Given the description of an element on the screen output the (x, y) to click on. 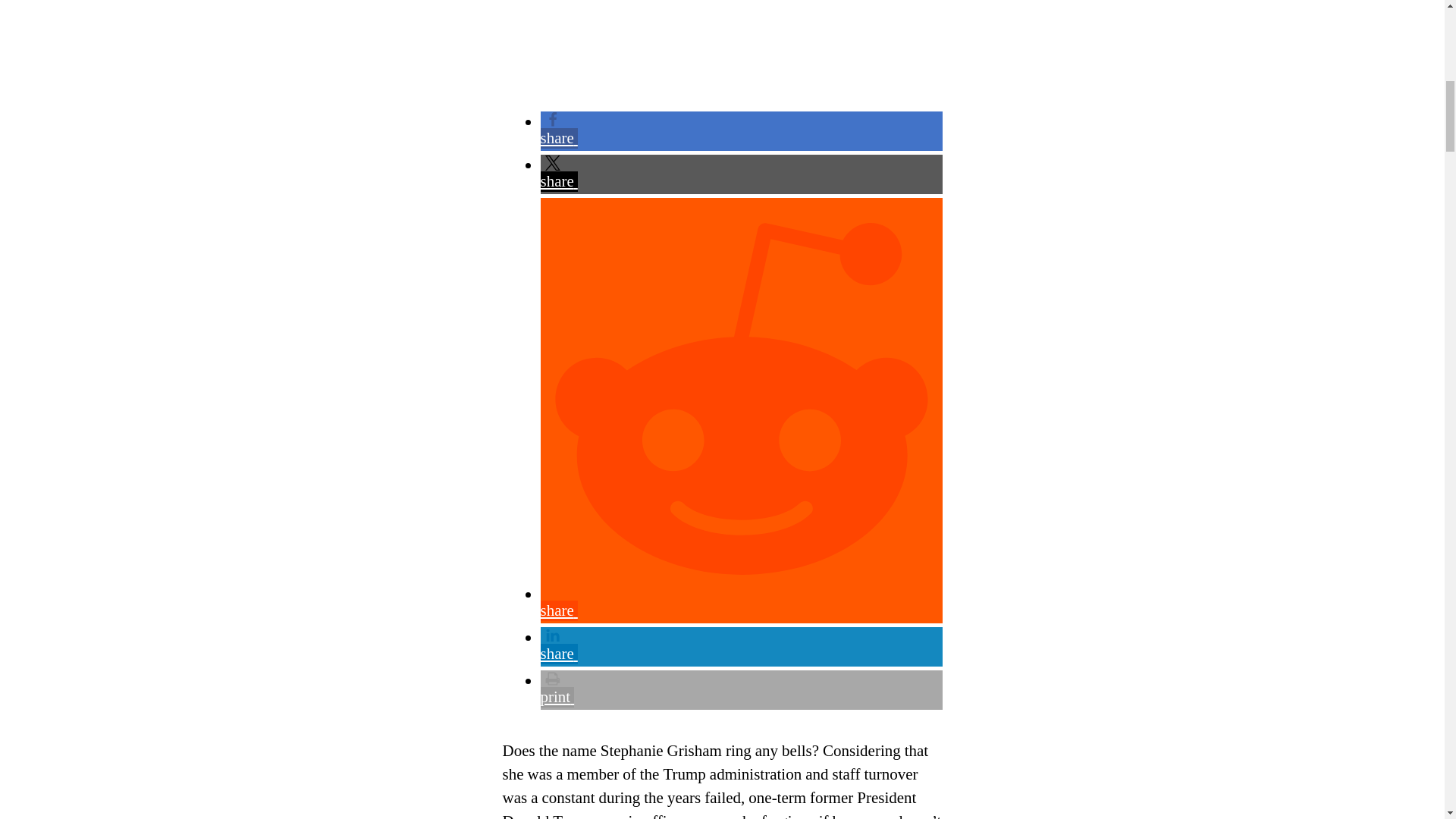
print (741, 688)
share  (741, 646)
share  (741, 173)
share  (741, 130)
print  (741, 688)
Share on X (741, 173)
Share on LinkedIn (741, 646)
Share on Facebook (741, 130)
